Given the description of an element on the screen output the (x, y) to click on. 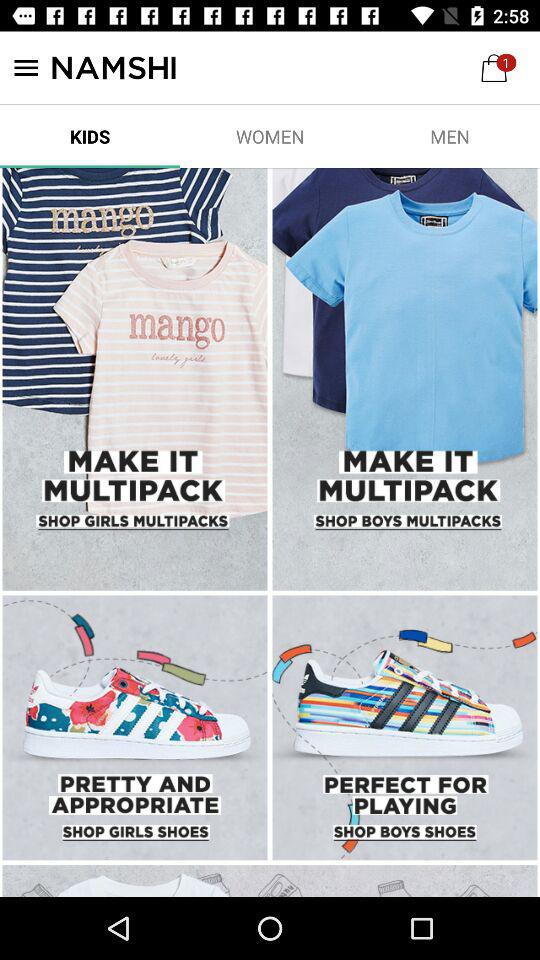
press the item next to men (270, 136)
